Given the description of an element on the screen output the (x, y) to click on. 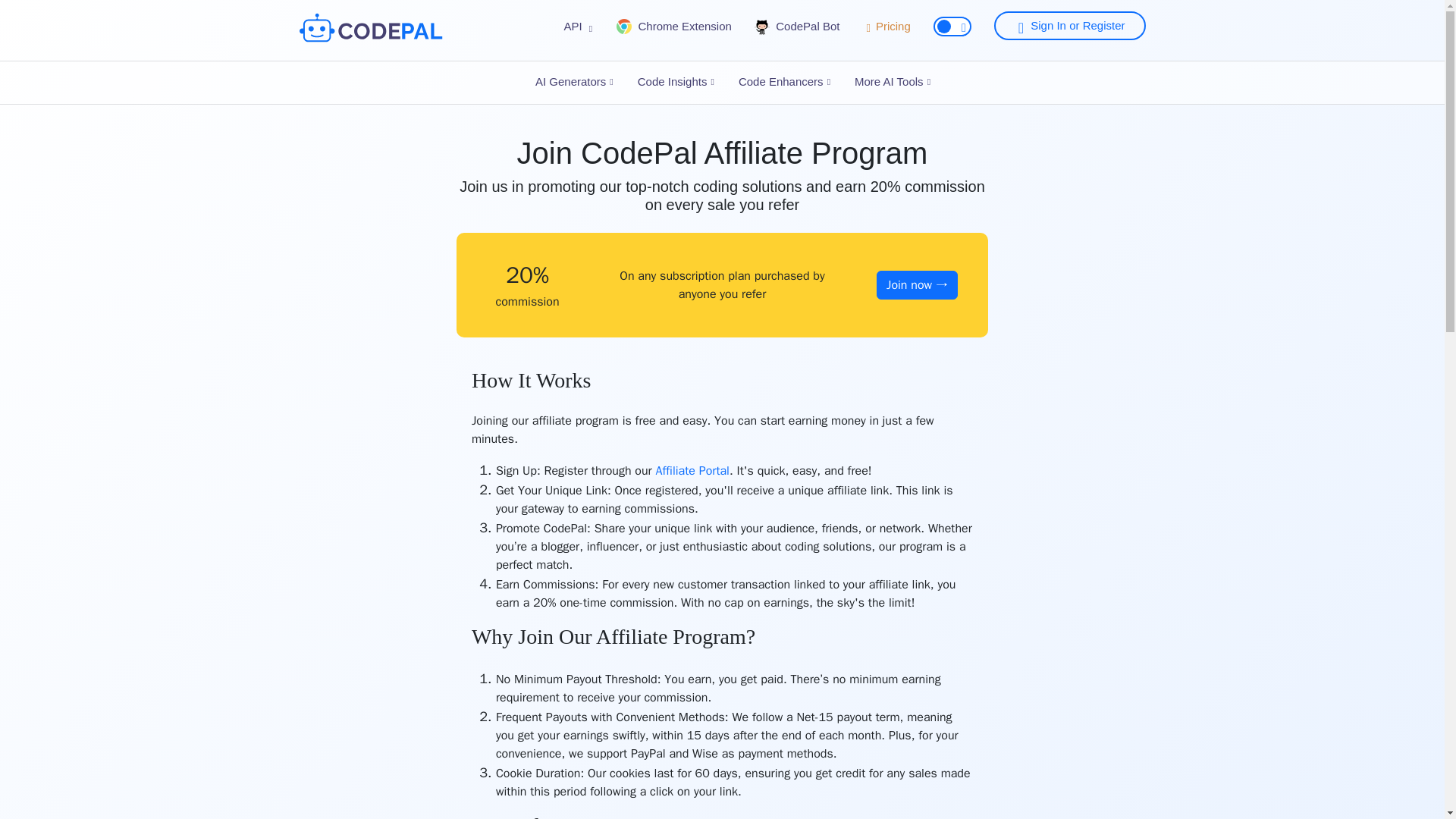
octocat (762, 27)
